Given the description of an element on the screen output the (x, y) to click on. 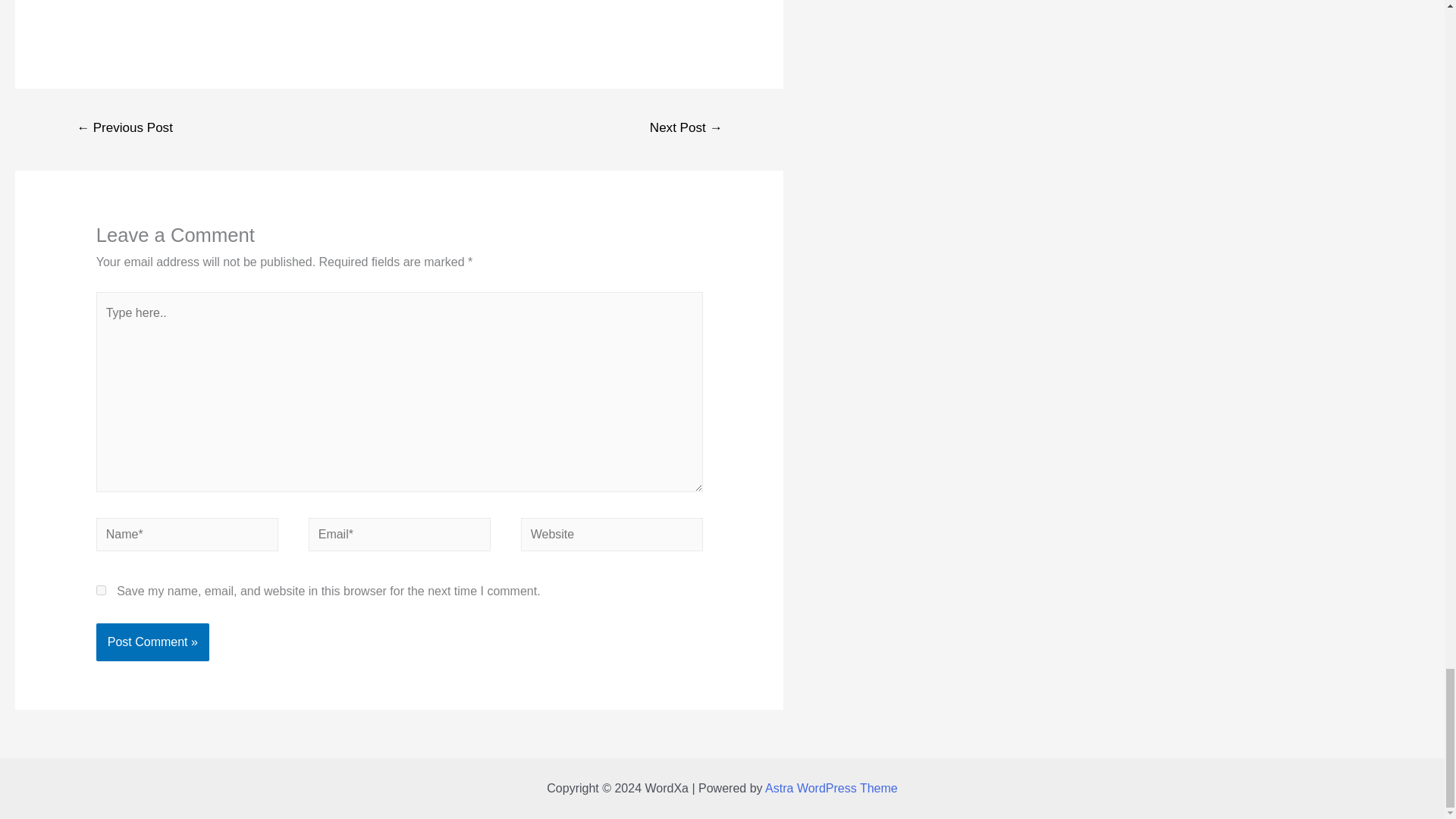
yes (101, 590)
